Given the description of an element on the screen output the (x, y) to click on. 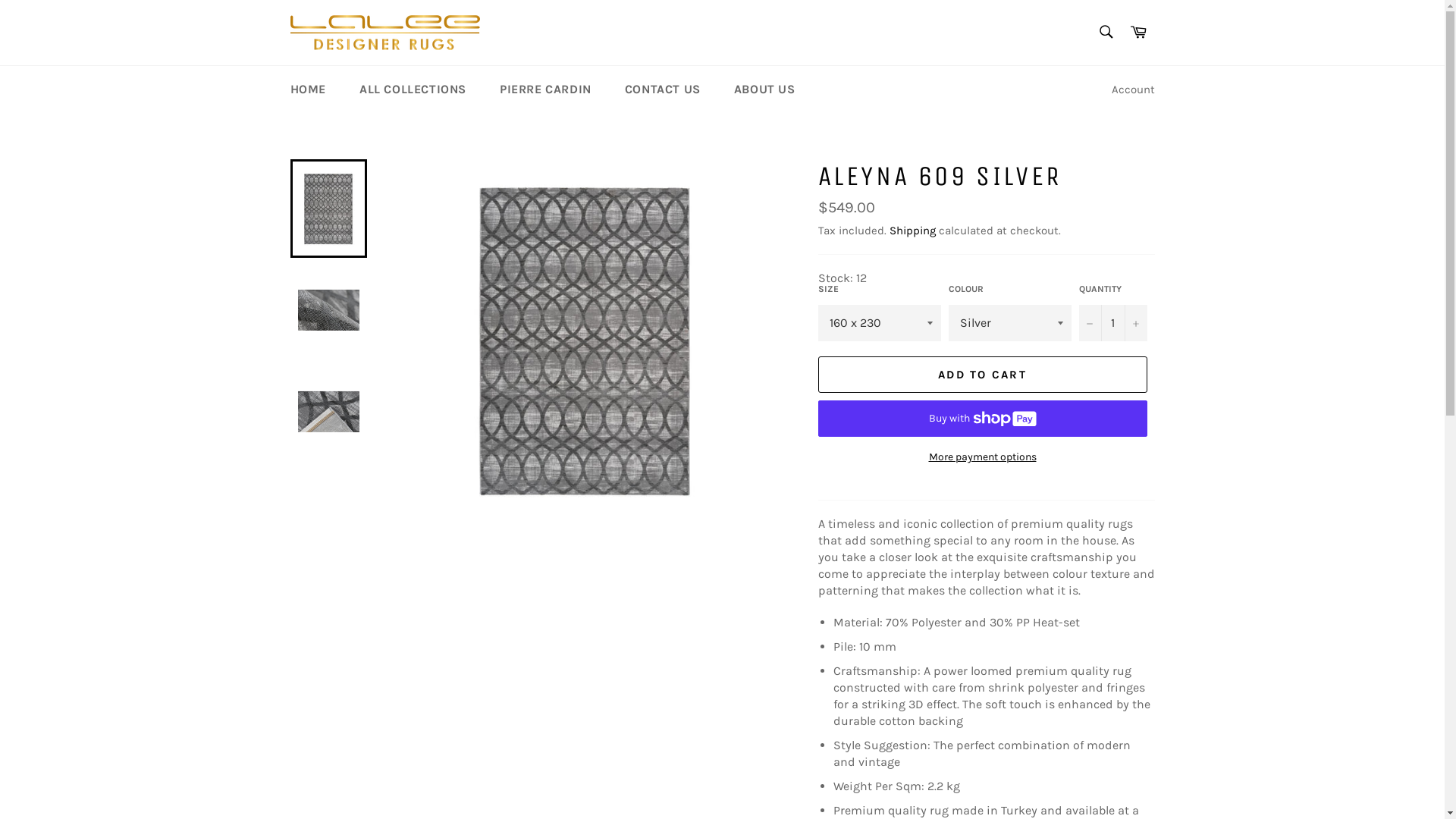
Cart Element type: text (1138, 32)
+ Element type: text (1134, 322)
Account Element type: text (1133, 89)
ALL COLLECTIONS Element type: text (412, 88)
PIERRE CARDIN Element type: text (545, 88)
Shipping Element type: text (911, 230)
ABOUT US Element type: text (764, 88)
ADD TO CART Element type: text (981, 374)
CONTACT US Element type: text (662, 88)
HOME Element type: text (307, 88)
Search Element type: text (1105, 31)
More payment options Element type: text (981, 456)
